Given the description of an element on the screen output the (x, y) to click on. 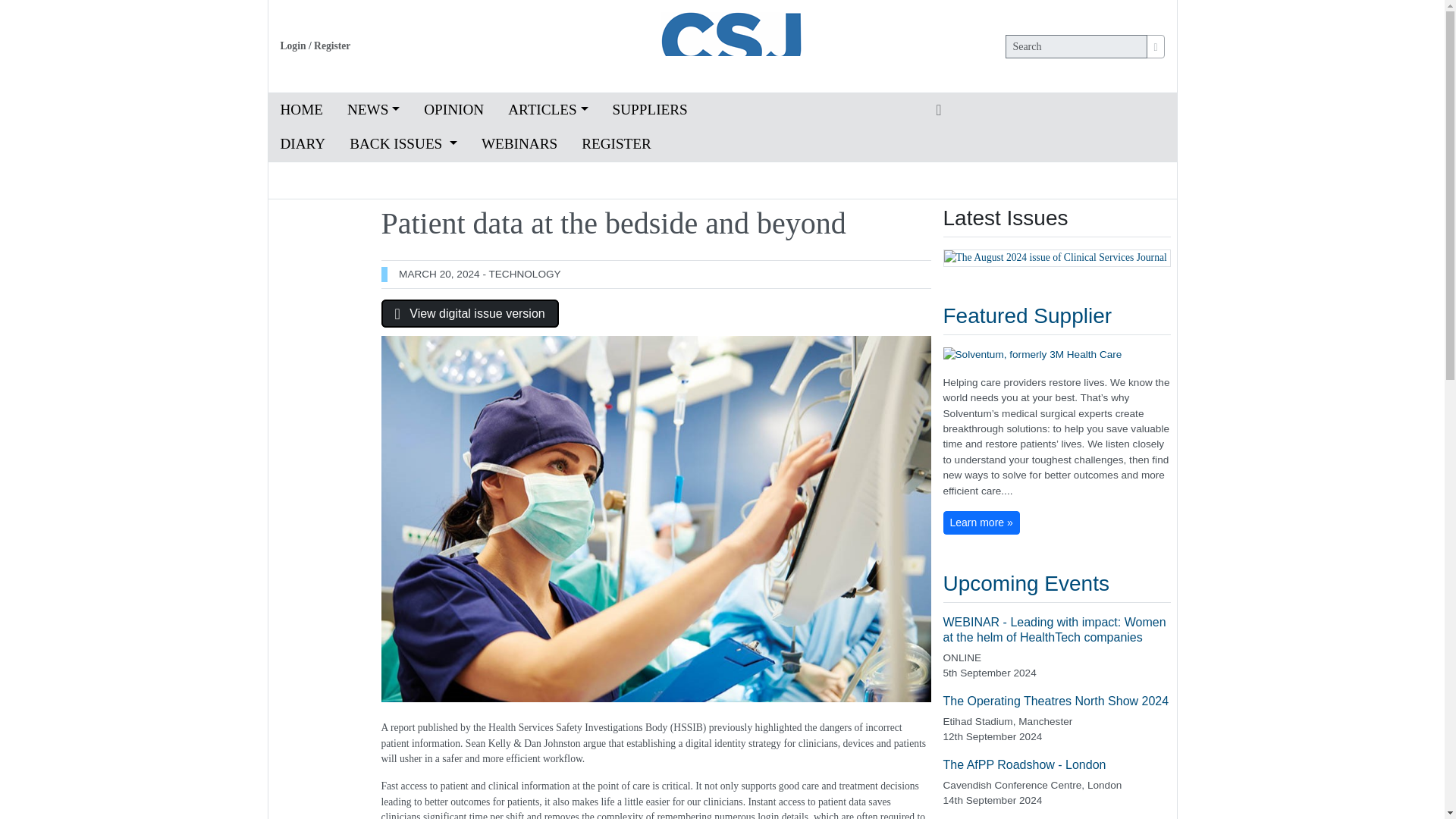
Register (332, 45)
The August 2024 issue of Clinical Services Journal (1056, 257)
ARTICLES (547, 110)
BACK ISSUES (402, 144)
DIARY (302, 144)
HOME (301, 110)
SUPPLIERS (649, 110)
WEBINARS (518, 144)
Login (293, 45)
REGISTER (616, 144)
